Given the description of an element on the screen output the (x, y) to click on. 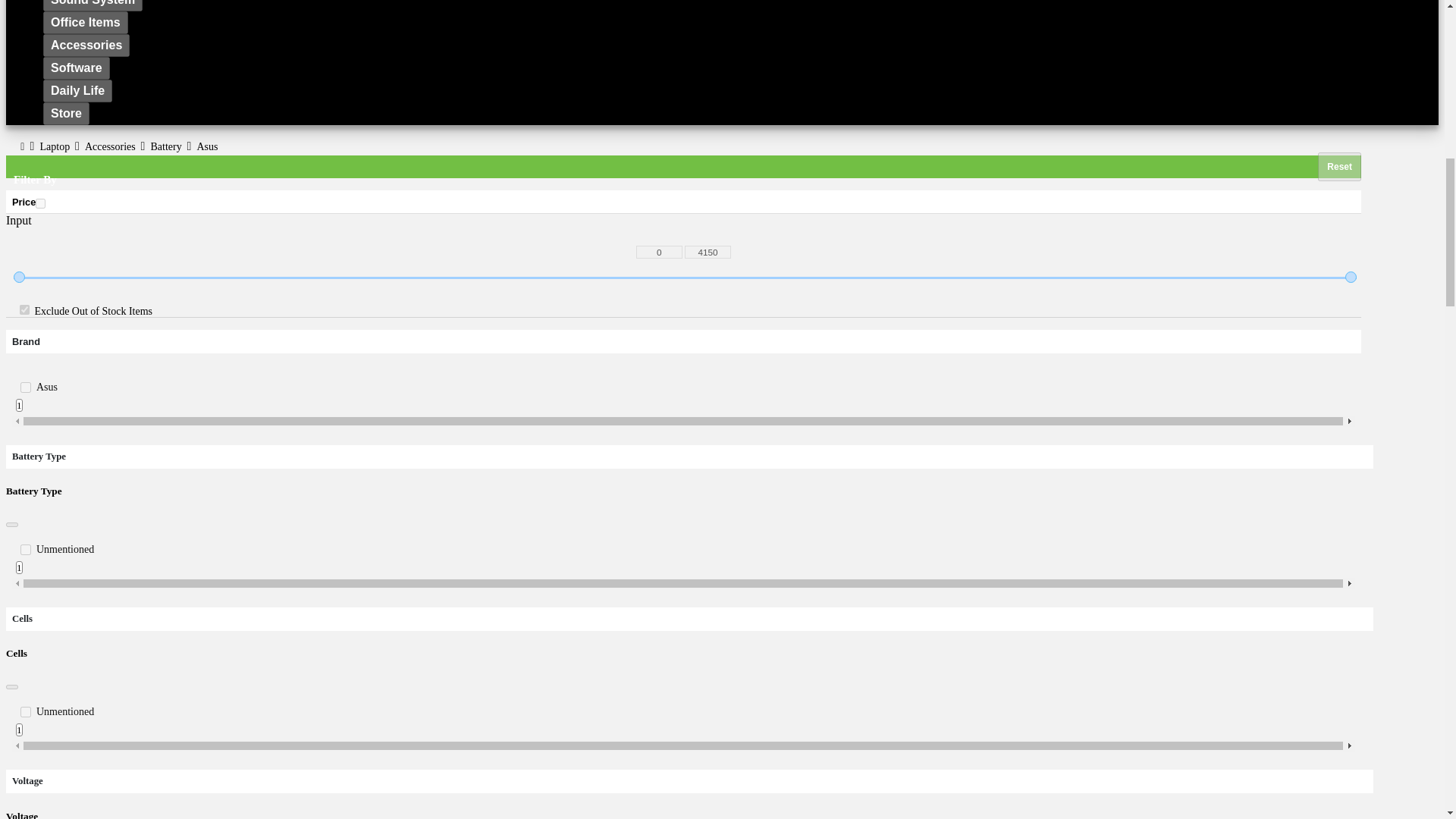
4150 (707, 251)
on (39, 203)
1 (24, 309)
2 (25, 387)
Reset (1339, 166)
0 (659, 251)
